Given the description of an element on the screen output the (x, y) to click on. 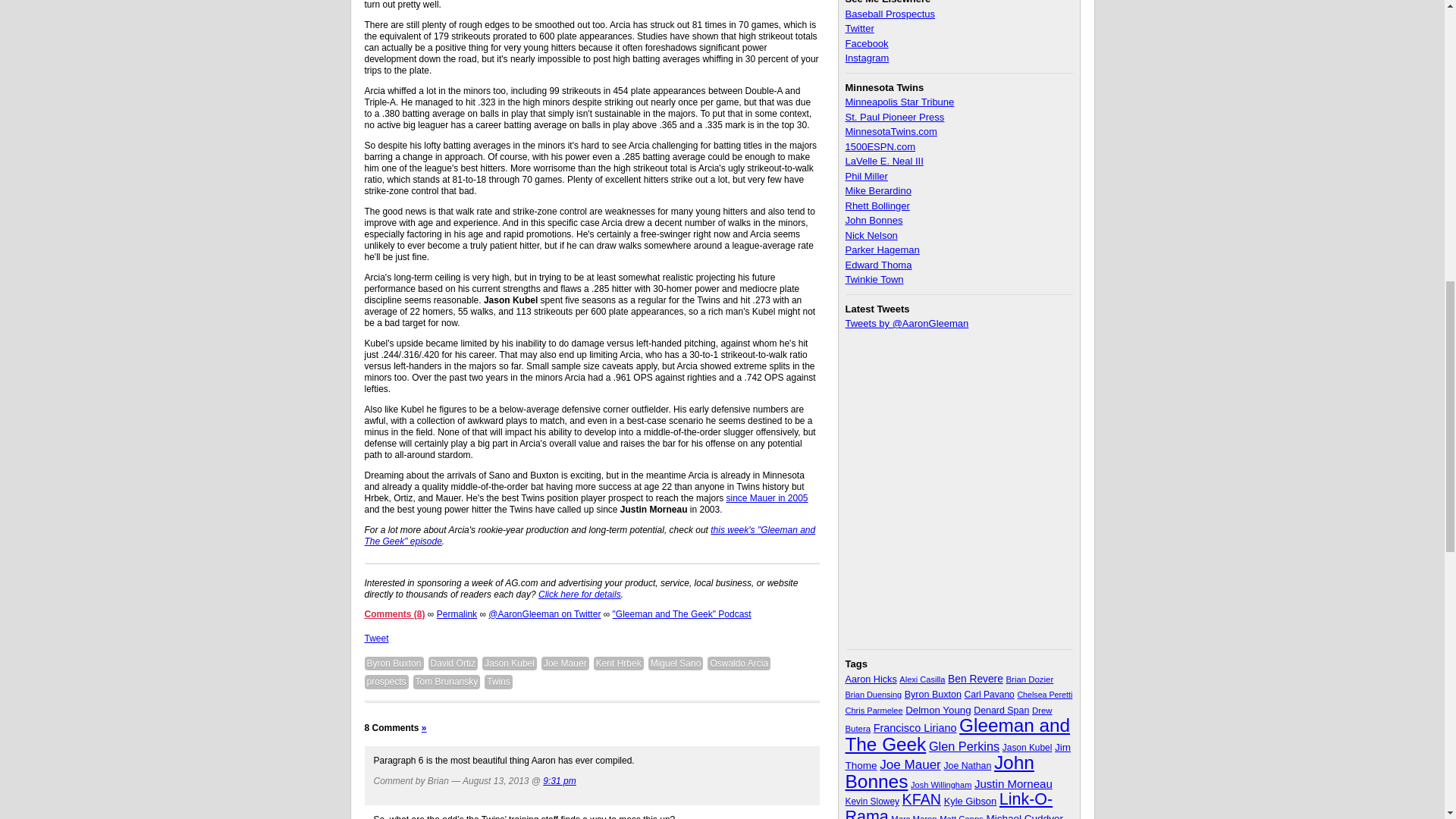
Tom Brunansky (446, 681)
this week's "Gleeman and The Geek" episode (589, 535)
Miguel Sano (675, 663)
Oswaldo Arcia (738, 663)
Click here for details (579, 593)
David Ortiz (452, 663)
Permalink (456, 614)
Byron Buxton (393, 663)
Kent Hrbek (618, 663)
Joe Mauer (565, 663)
since Mauer in 2005 (766, 498)
prospects (385, 681)
9:31 pm (559, 780)
Twins (498, 681)
Jason Kubel (509, 663)
